Given the description of an element on the screen output the (x, y) to click on. 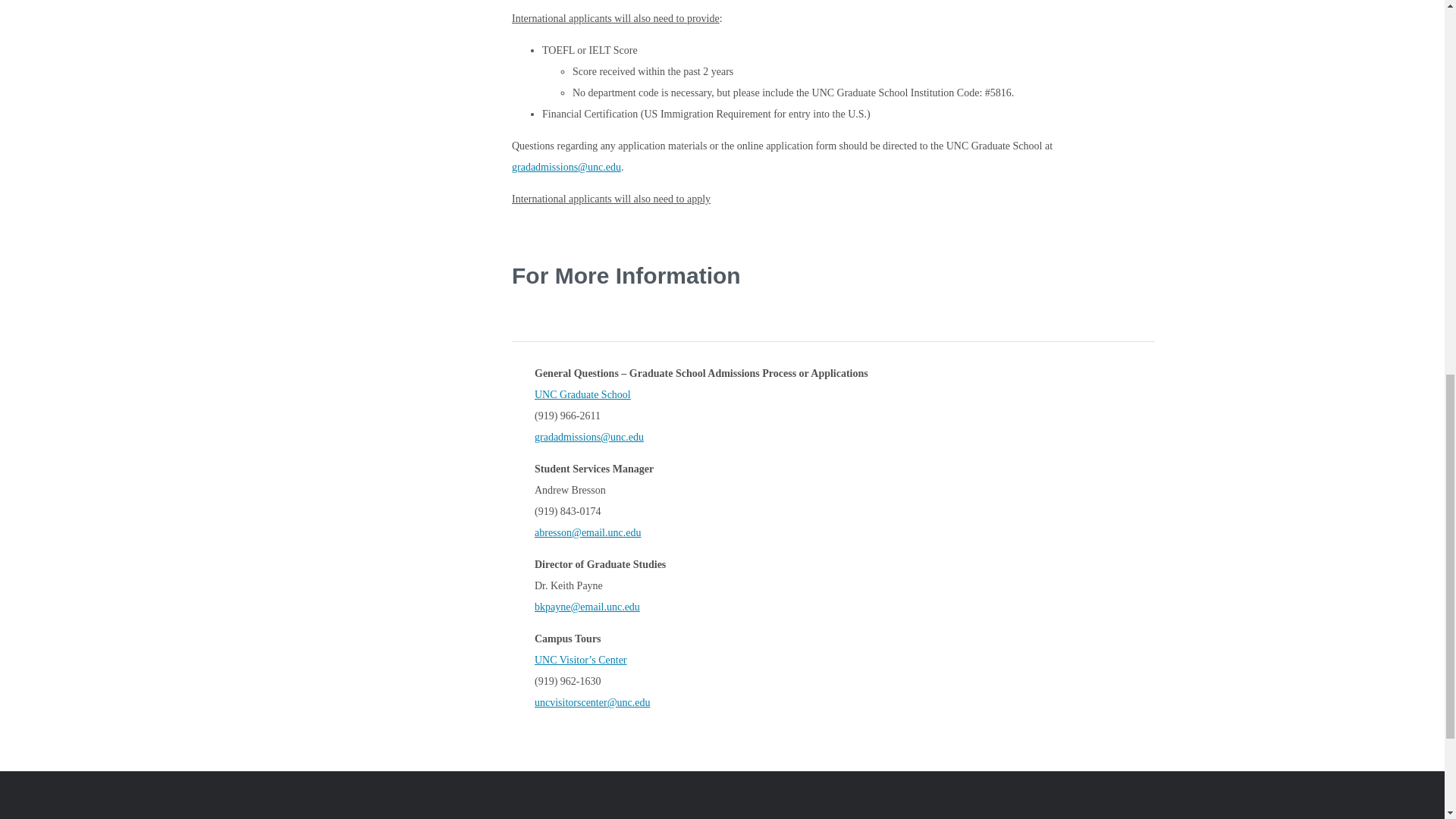
UNC Graduate School (582, 394)
